Given the description of an element on the screen output the (x, y) to click on. 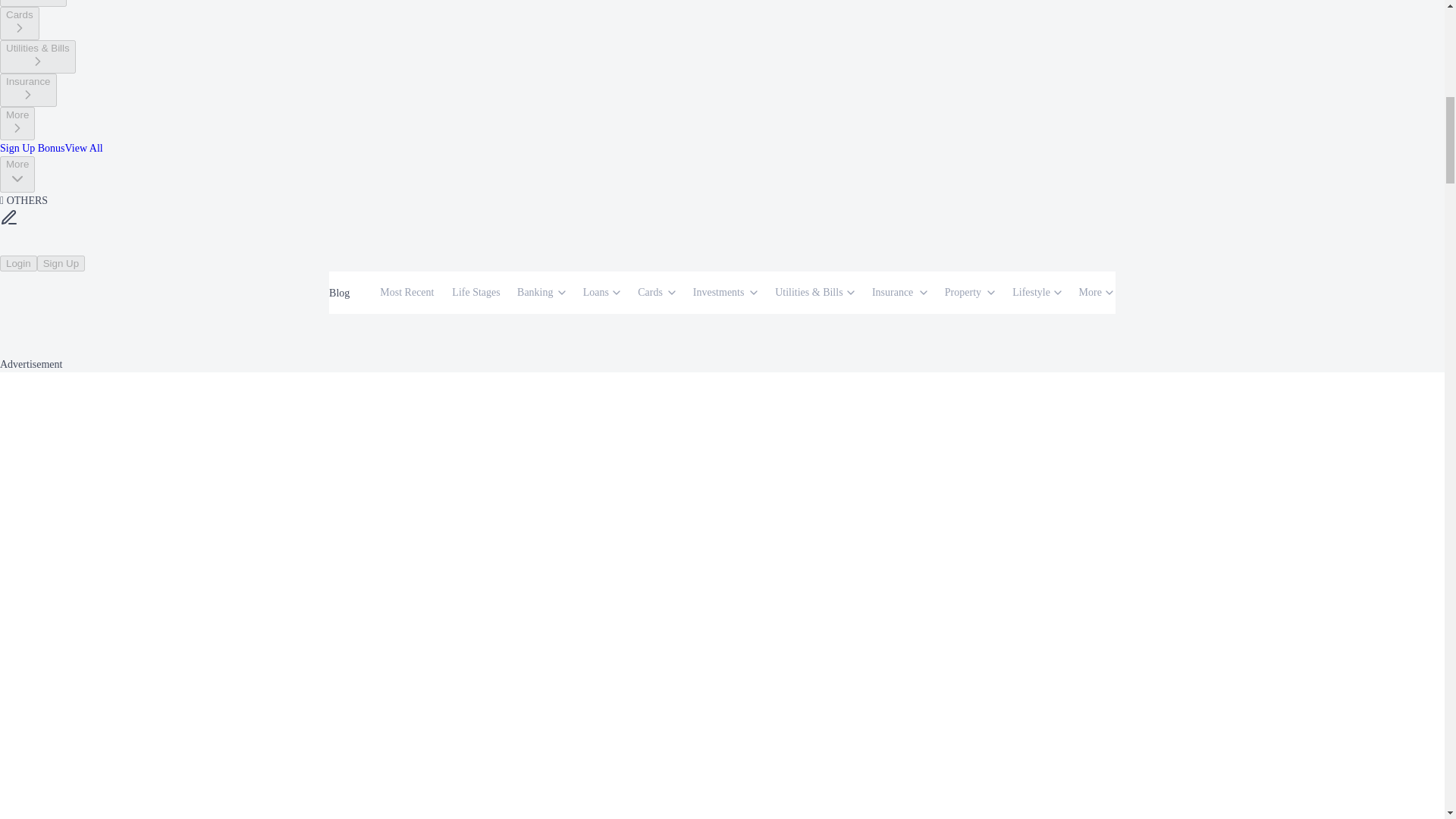
Loans (597, 292)
Most Recent (408, 292)
Banking (536, 292)
Banking (541, 292)
Investments (33, 3)
Most Recent (408, 292)
Insurance (28, 90)
Sign Up Bonus (32, 147)
Life Stages (476, 292)
Cards (651, 292)
